Given the description of an element on the screen output the (x, y) to click on. 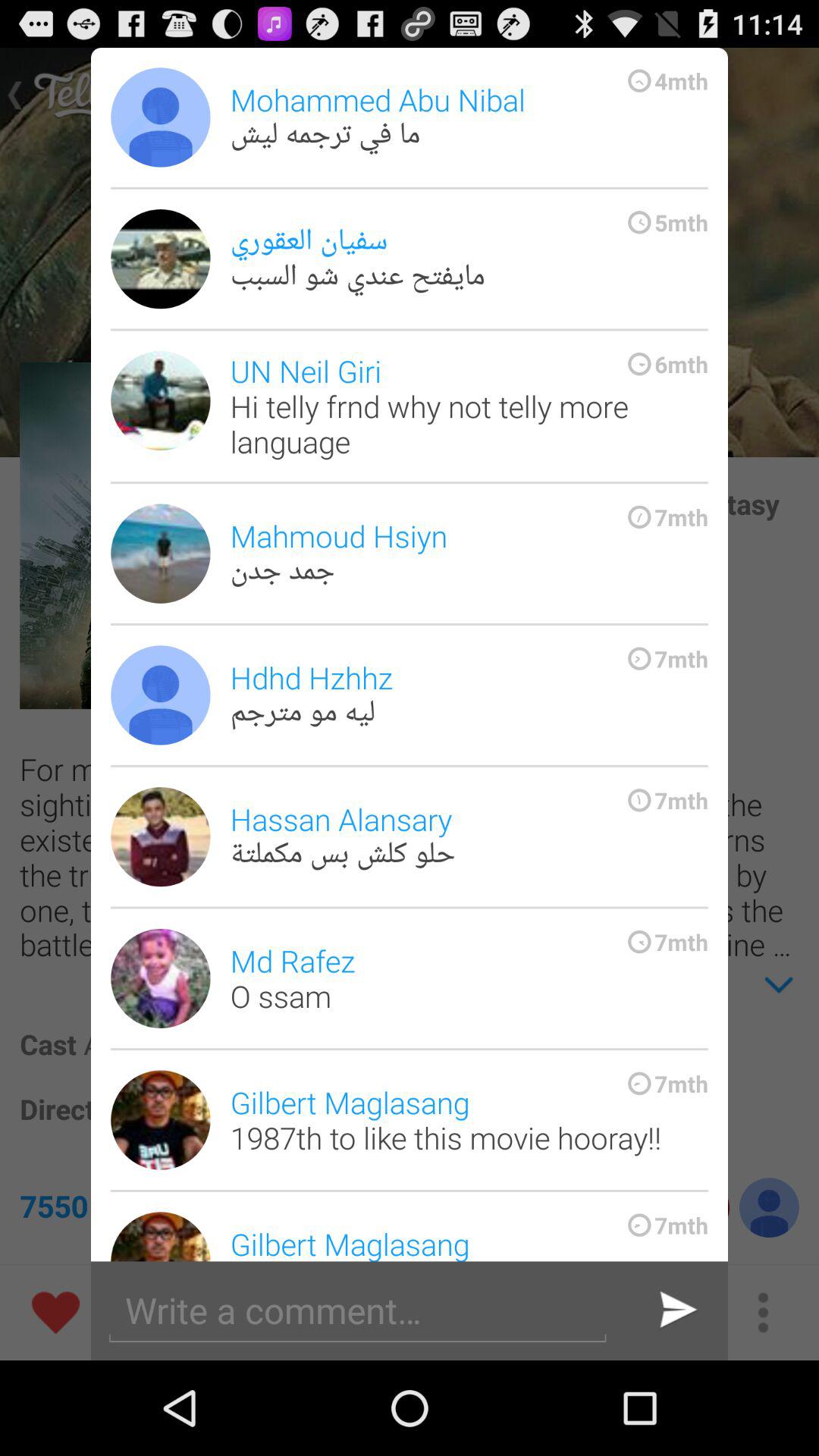
open item below the mohammed abu nibal (469, 258)
